Given the description of an element on the screen output the (x, y) to click on. 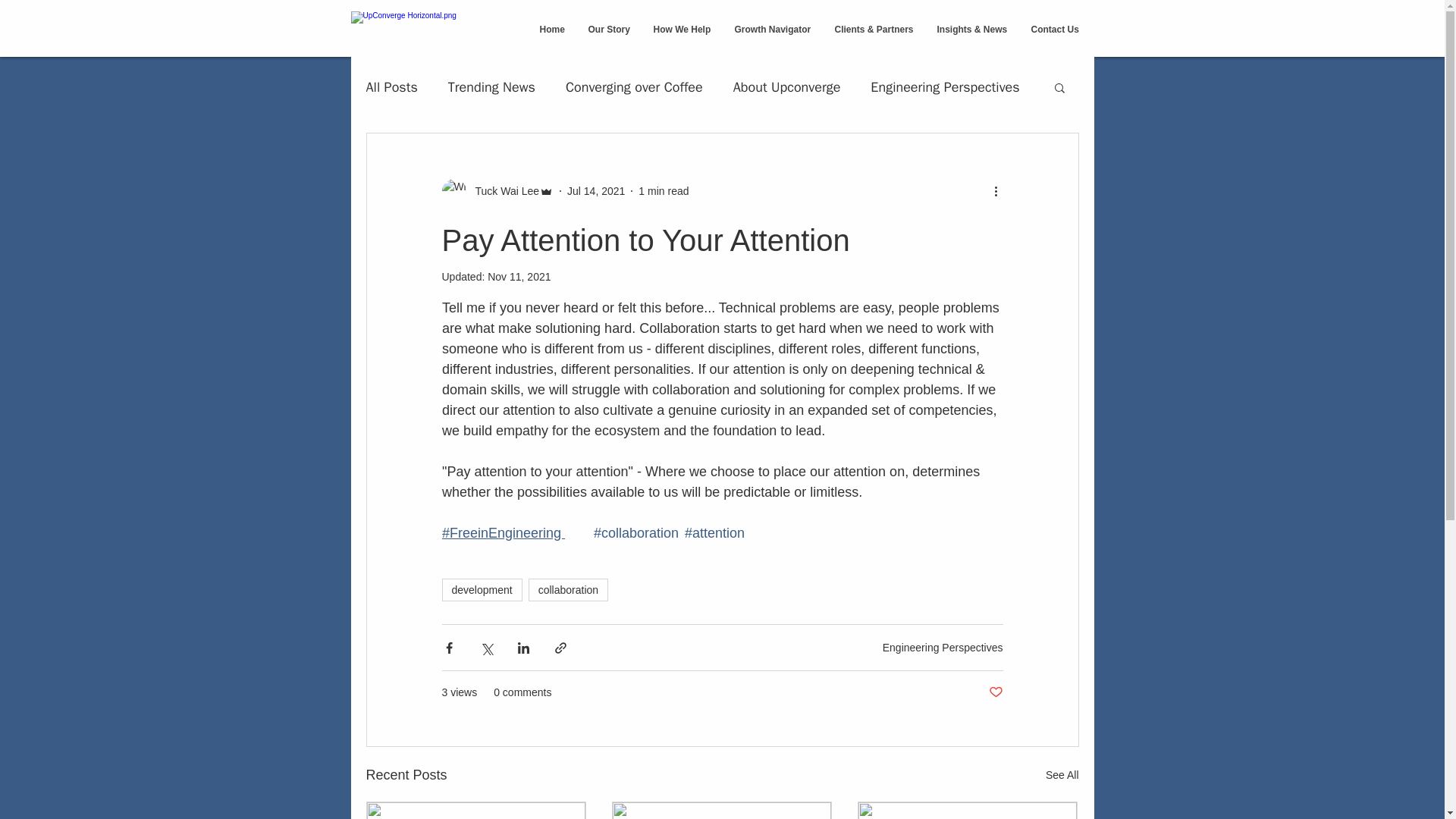
Home (551, 29)
Post not marked as liked (995, 692)
Tuck Wai Lee (497, 191)
Contact Us (1054, 29)
How We Help (682, 29)
development (481, 589)
Tuck Wai Lee (501, 191)
Engineering Perspectives (942, 647)
Trending News (491, 86)
See All (1061, 775)
